Given the description of an element on the screen output the (x, y) to click on. 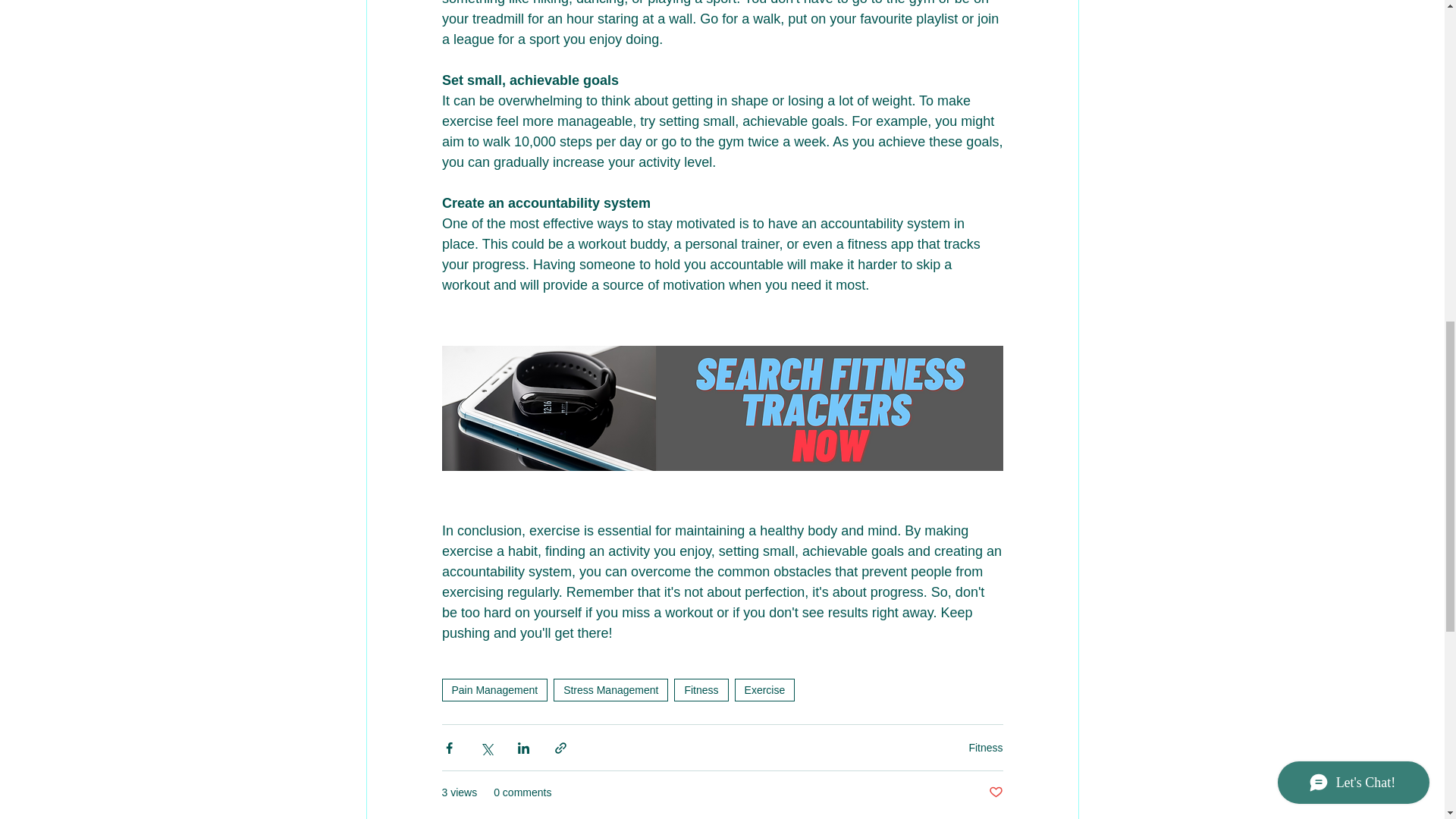
Exercise (764, 689)
Fitness (701, 689)
Fitness (985, 747)
Stress Management (610, 689)
Pain Management (494, 689)
Post not marked as liked (995, 792)
